Given the description of an element on the screen output the (x, y) to click on. 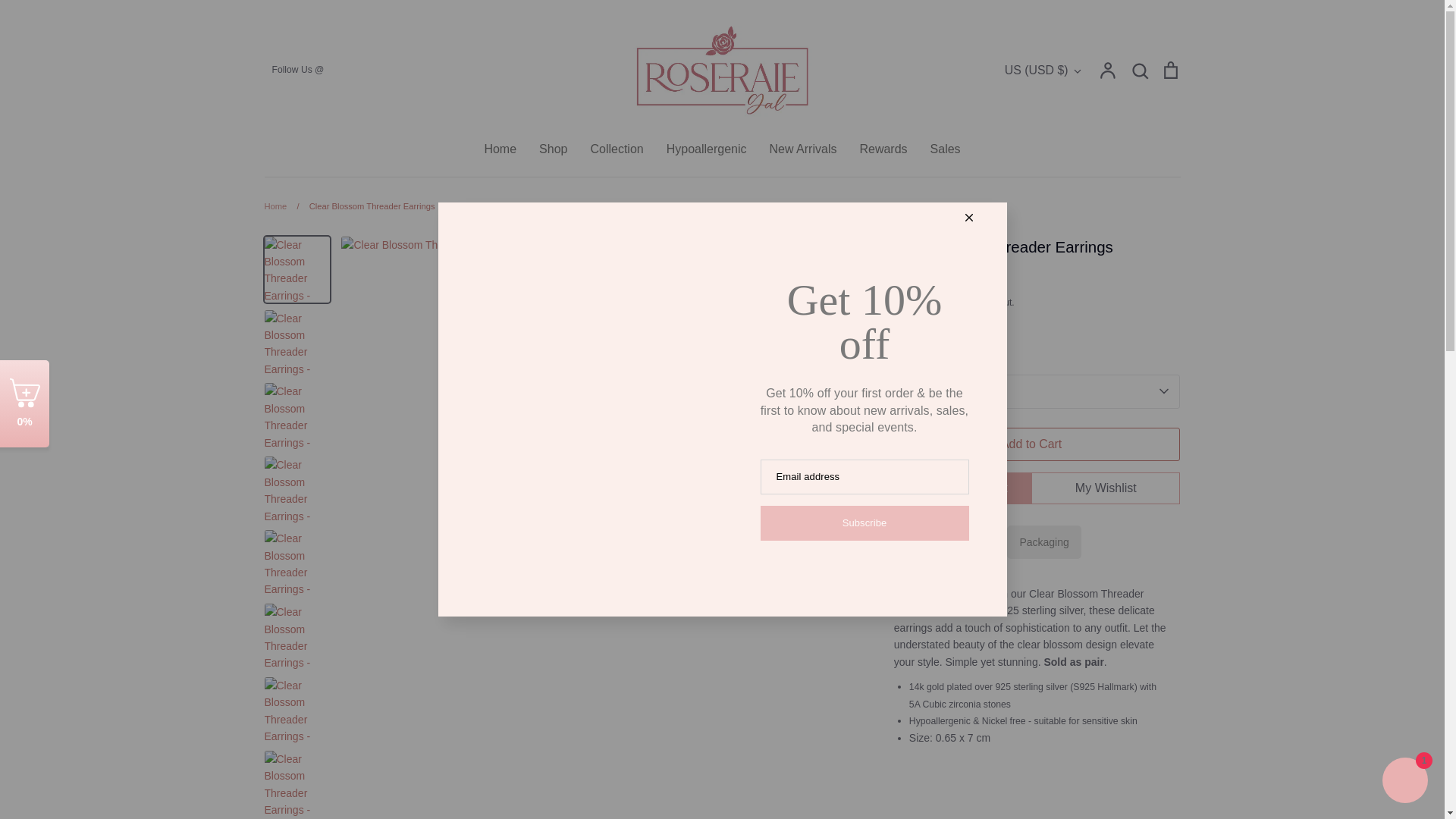
Shopify online store chat (1404, 781)
